Given the description of an element on the screen output the (x, y) to click on. 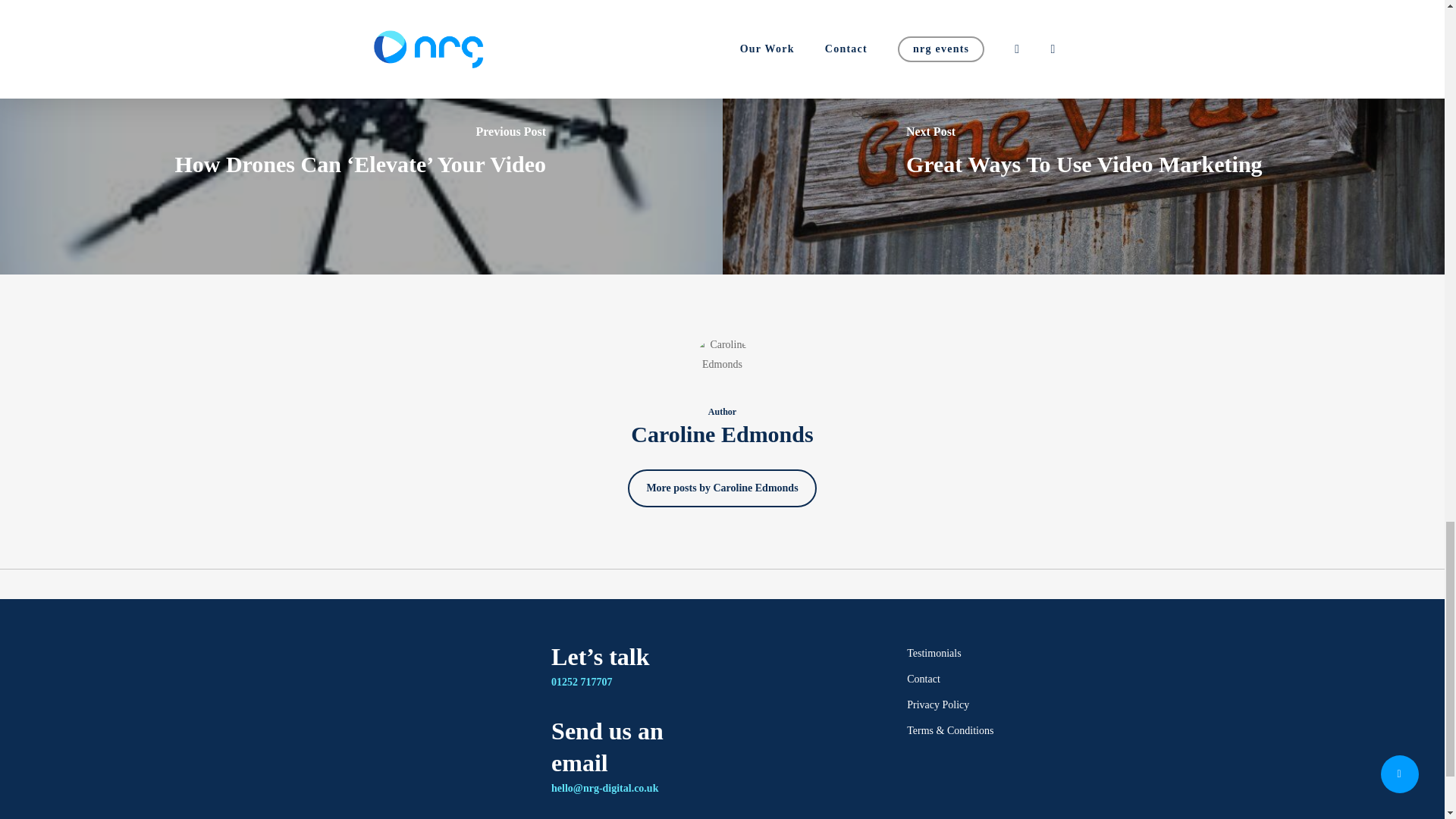
More posts by Caroline Edmonds (721, 487)
01252 717707 (581, 681)
Privacy Policy (988, 704)
Testimonials (988, 653)
Contact (988, 679)
